Given the description of an element on the screen output the (x, y) to click on. 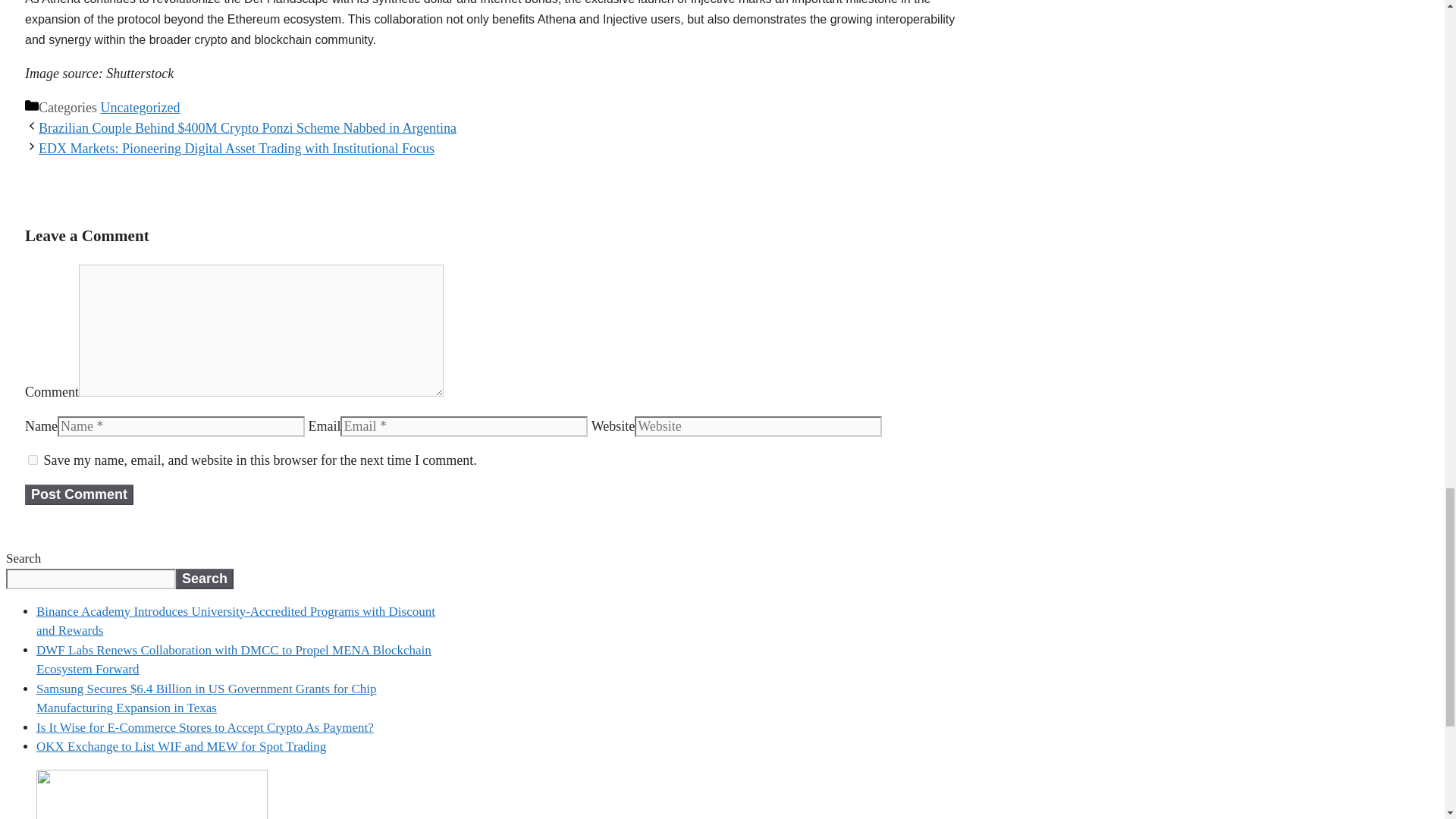
Post Comment (78, 494)
yes (32, 460)
Post Comment (78, 494)
Search (204, 578)
Uncategorized (139, 107)
OKX Exchange to List WIF and MEW for Spot Trading (181, 746)
